Given the description of an element on the screen output the (x, y) to click on. 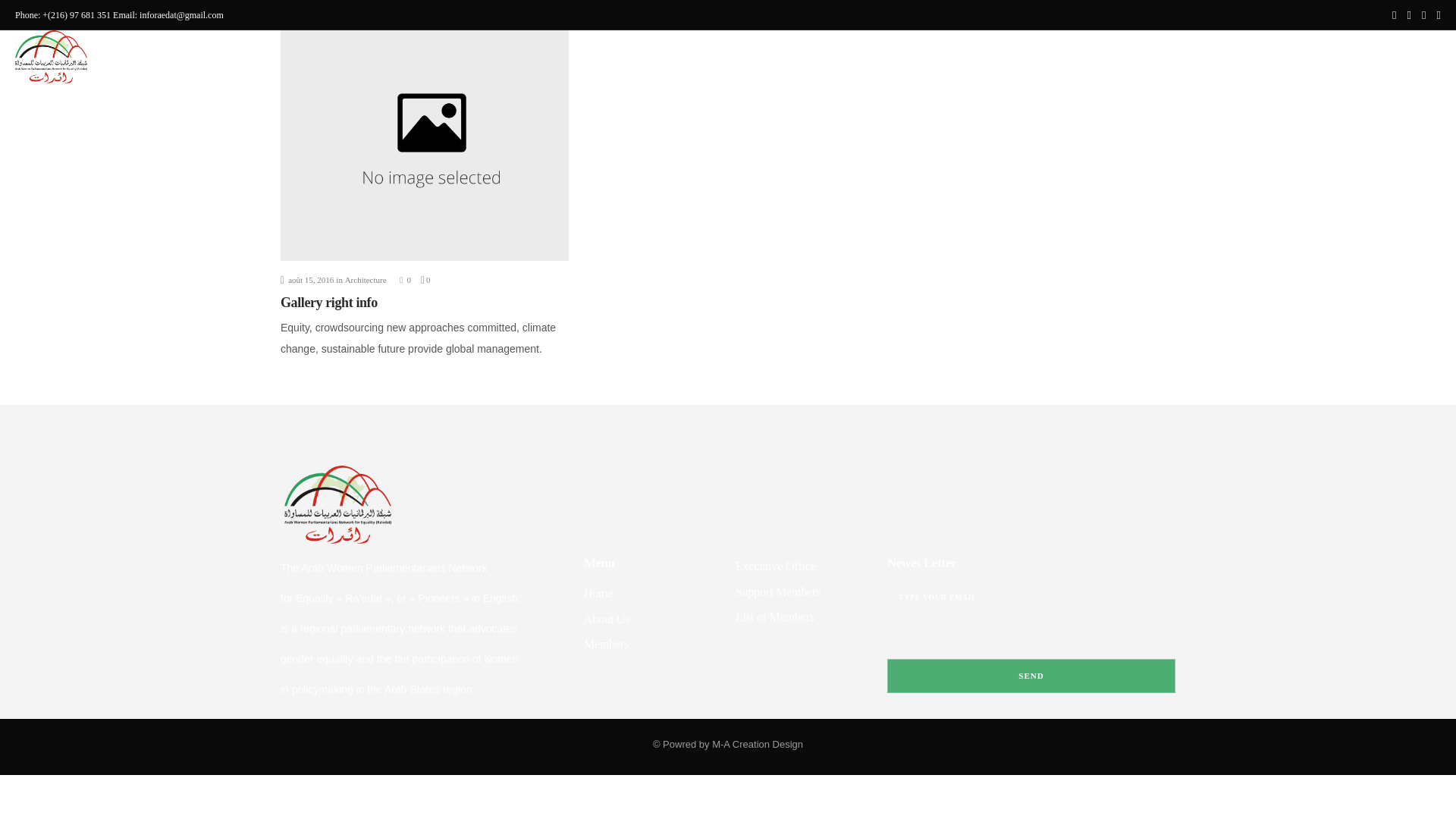
Home (1088, 57)
Instagram (1409, 15)
Site logo (50, 56)
Our Work (1205, 57)
Twitter (1423, 15)
Facebook (1393, 15)
About Us (1141, 57)
Gallery right info (329, 302)
Publications (1273, 57)
YouTube (1438, 15)
Send (1030, 675)
